Given the description of an element on the screen output the (x, y) to click on. 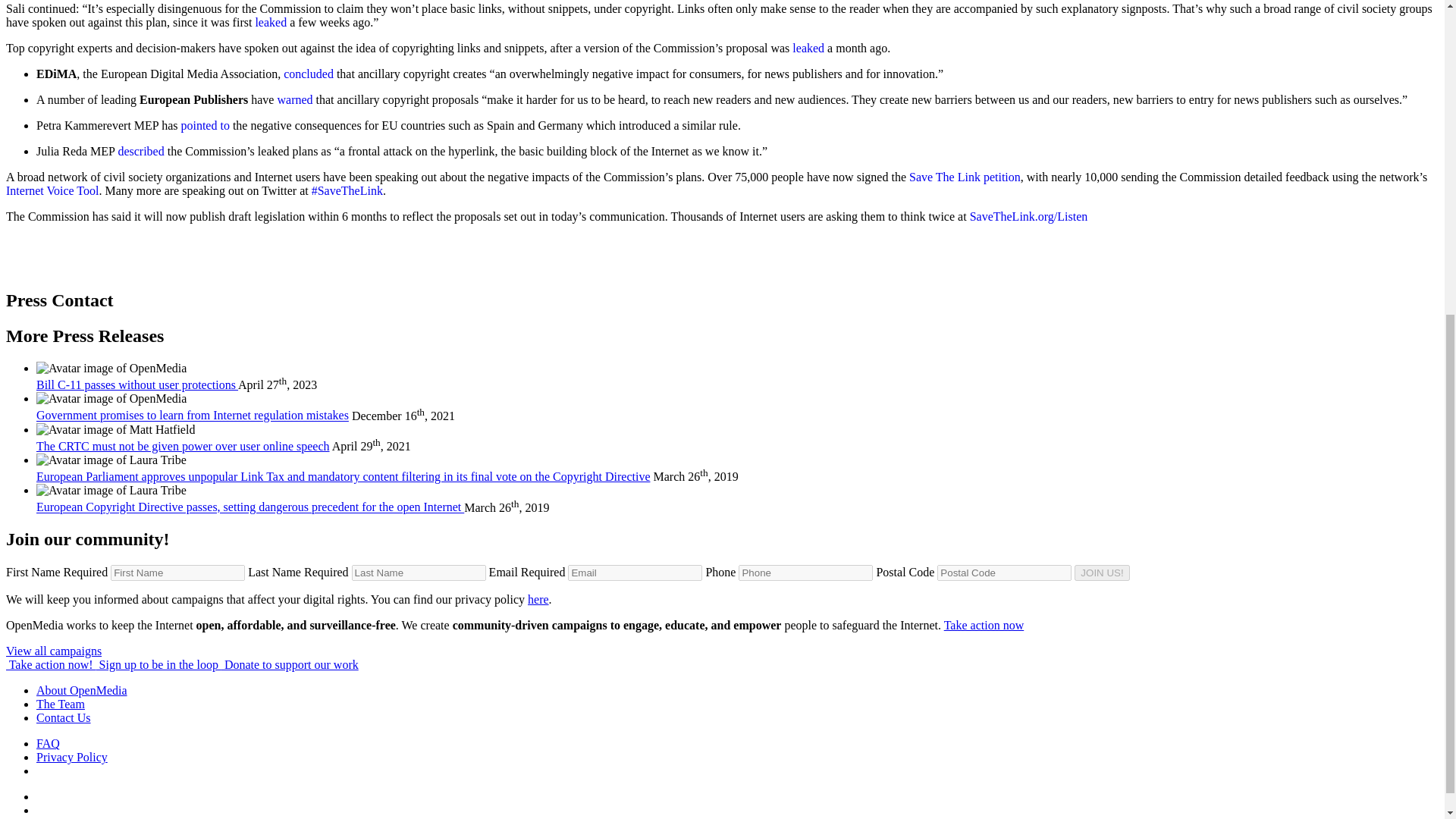
Privacy Policy (71, 757)
warned (294, 99)
FAQ (47, 743)
concluded (308, 73)
Contact Us (63, 717)
leaked (270, 21)
The Team (60, 703)
leaked (808, 47)
About OpenMedia (82, 689)
